Given the description of an element on the screen output the (x, y) to click on. 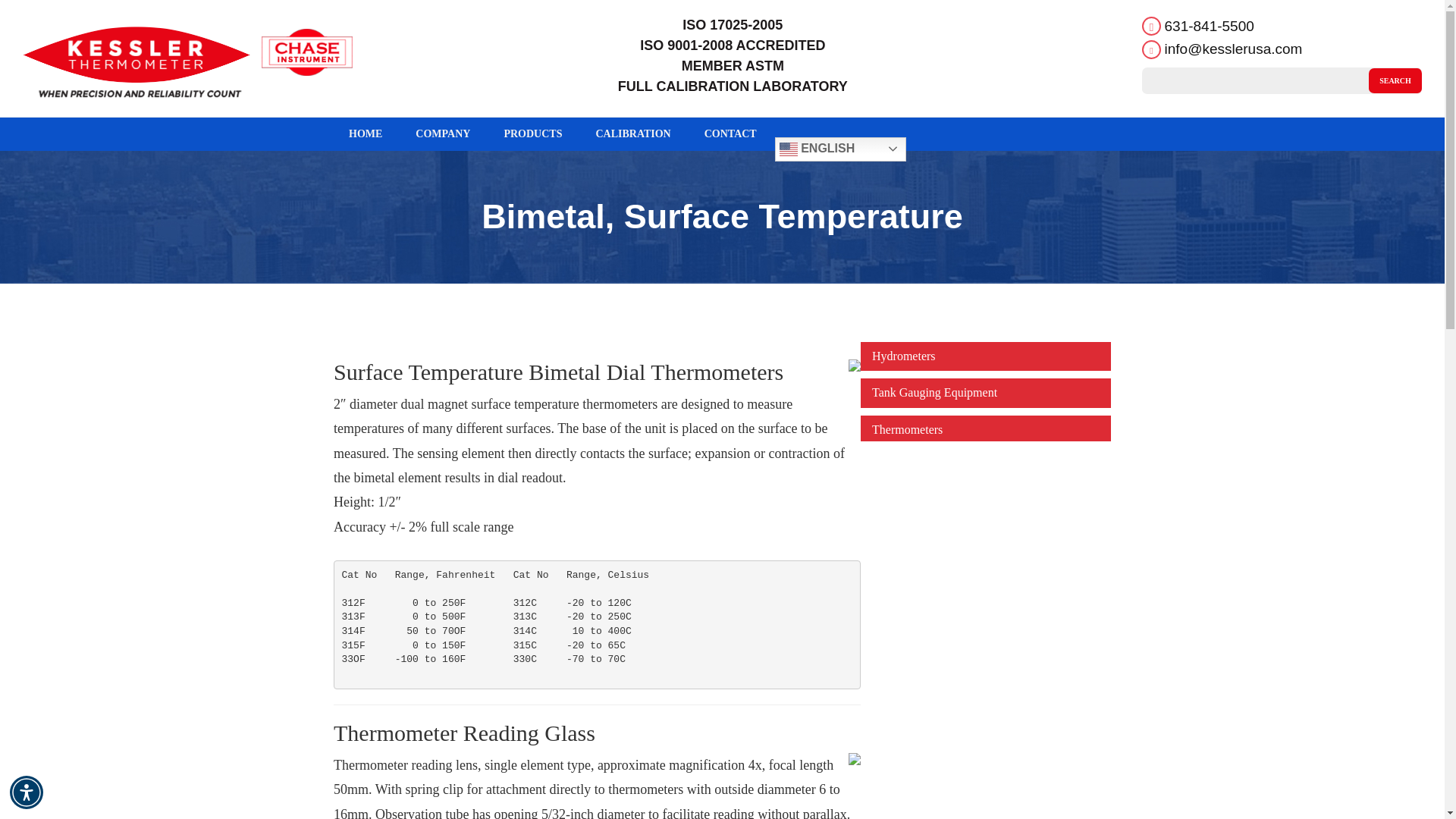
HOME (365, 133)
PRODUCTS (531, 133)
ENGLISH (839, 148)
Thermometers (907, 429)
Search (1395, 80)
CONTACT (729, 133)
Hydrometers (904, 354)
COMPANY (442, 133)
631-841-5500 (1208, 26)
Search (1395, 80)
Accessibility Menu (26, 792)
Tank Gauging Equipment (934, 391)
CALIBRATION (632, 133)
